Given the description of an element on the screen output the (x, y) to click on. 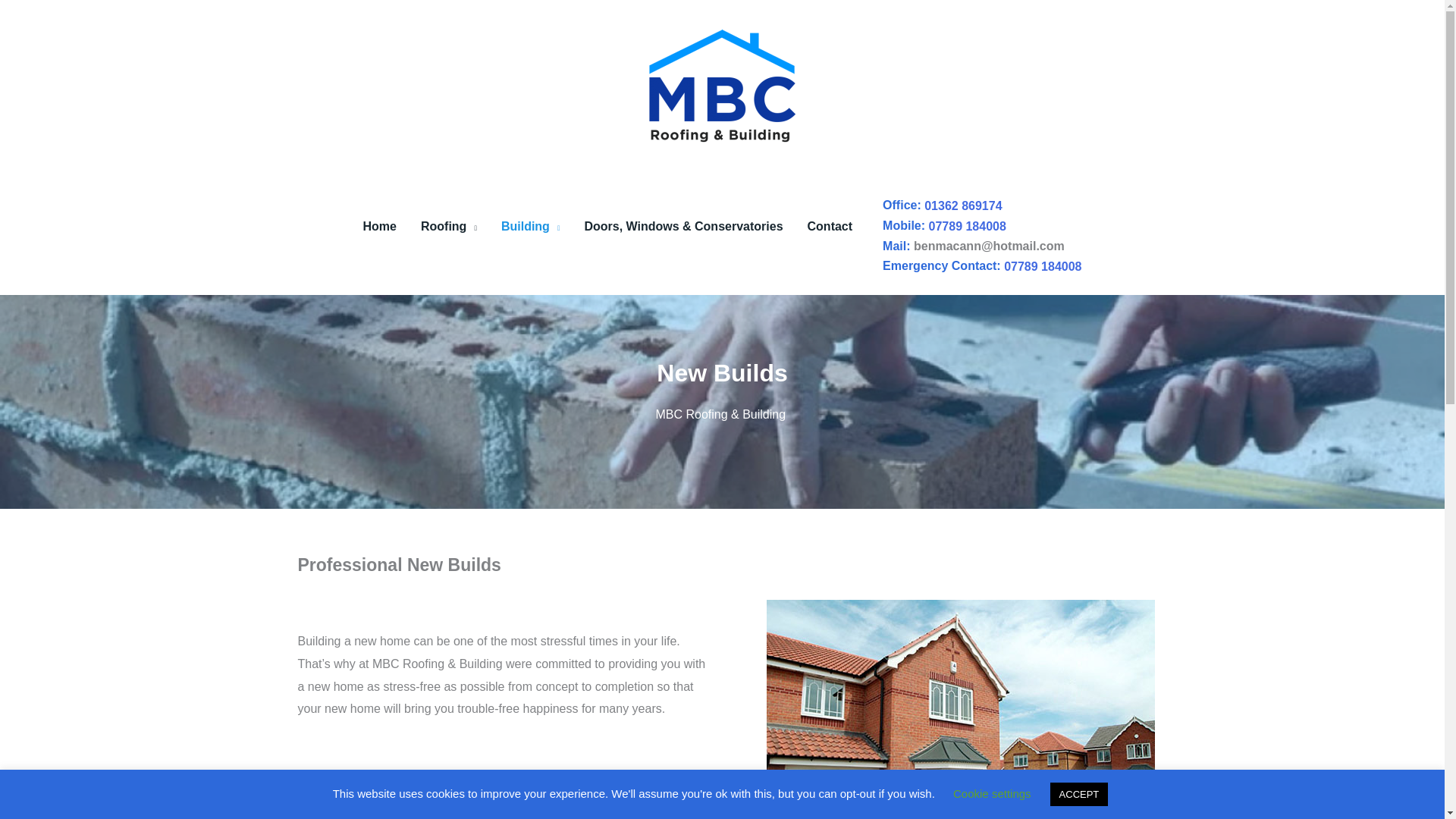
ACCEPT (1078, 793)
Home (379, 226)
Cookie settings (991, 793)
01362 869174 (962, 205)
07789 184008 (1042, 266)
Contact (829, 226)
07789 184008 (967, 226)
Building (530, 226)
Roofing (449, 226)
